Given the description of an element on the screen output the (x, y) to click on. 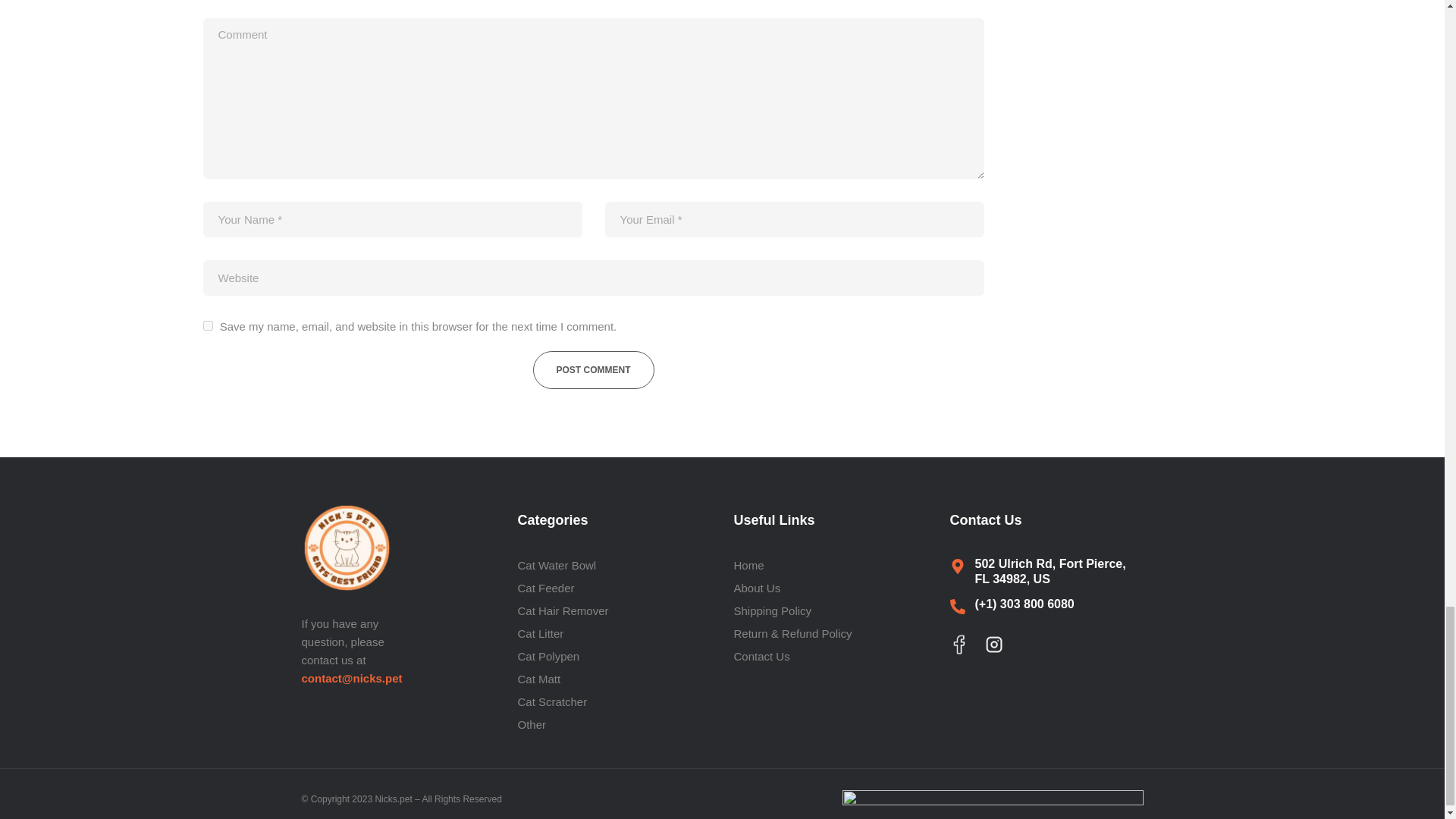
yes (207, 325)
Post Comment (592, 370)
